Given the description of an element on the screen output the (x, y) to click on. 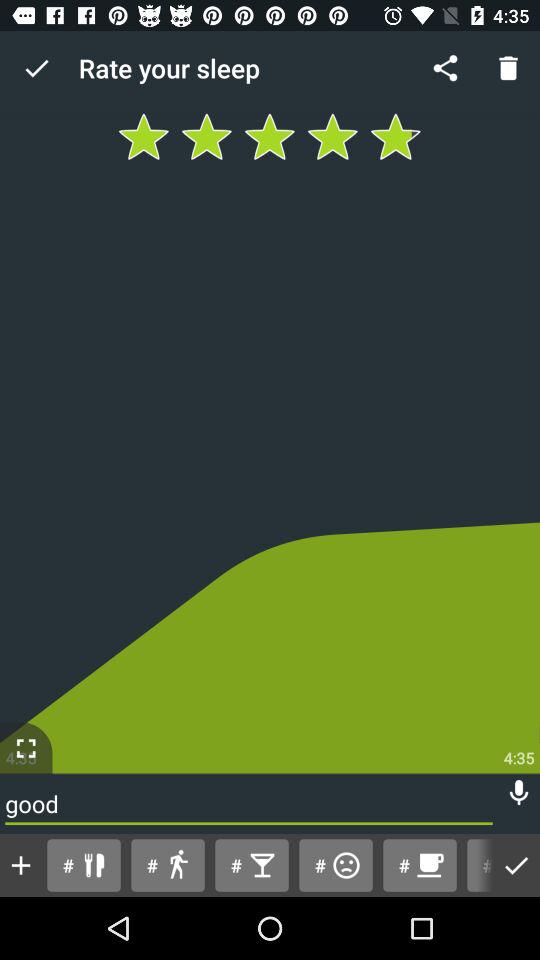
zoom in (26, 748)
